Given the description of an element on the screen output the (x, y) to click on. 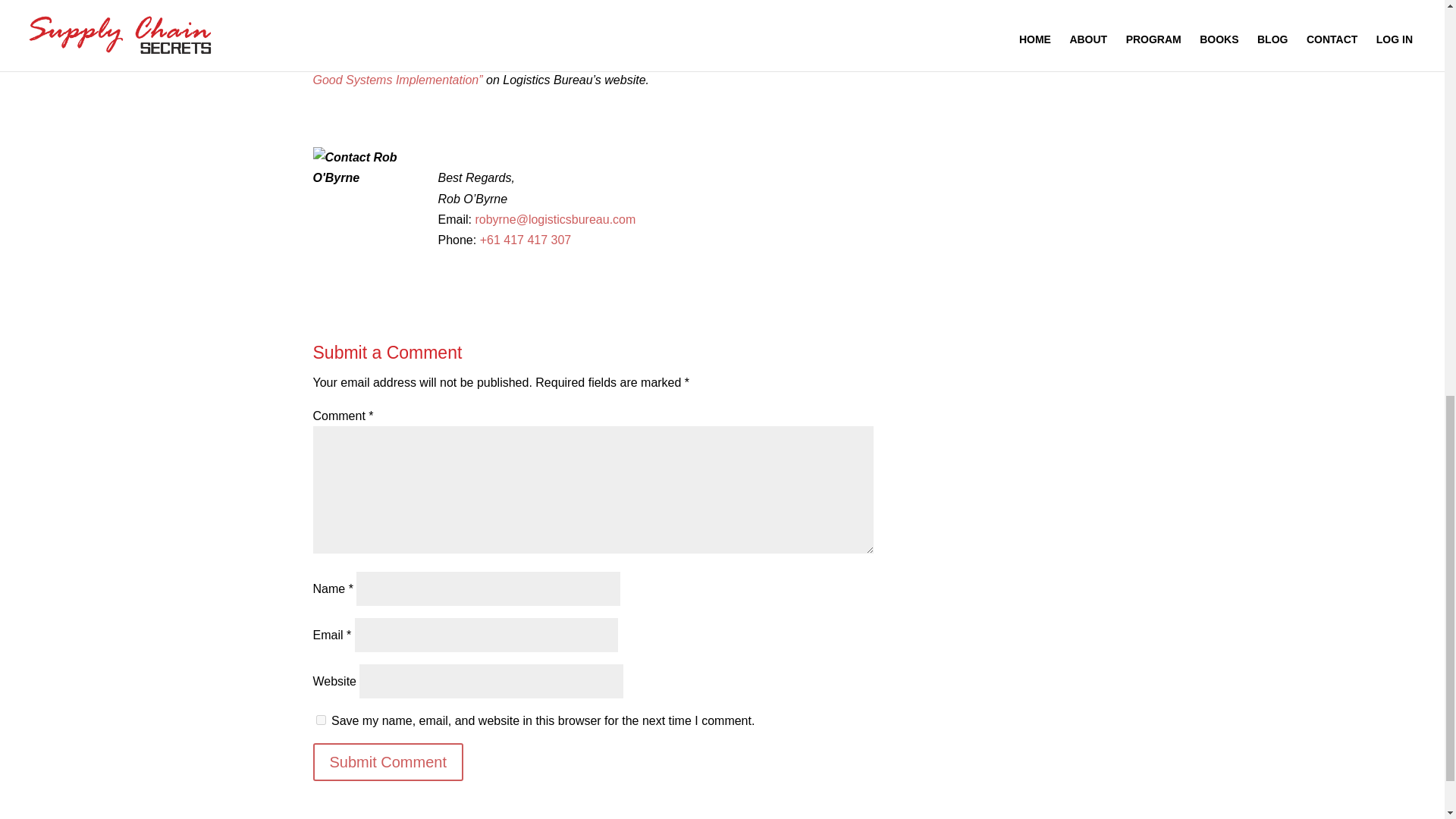
Submit Comment (388, 761)
Submit Comment (388, 761)
yes (319, 719)
